Given the description of an element on the screen output the (x, y) to click on. 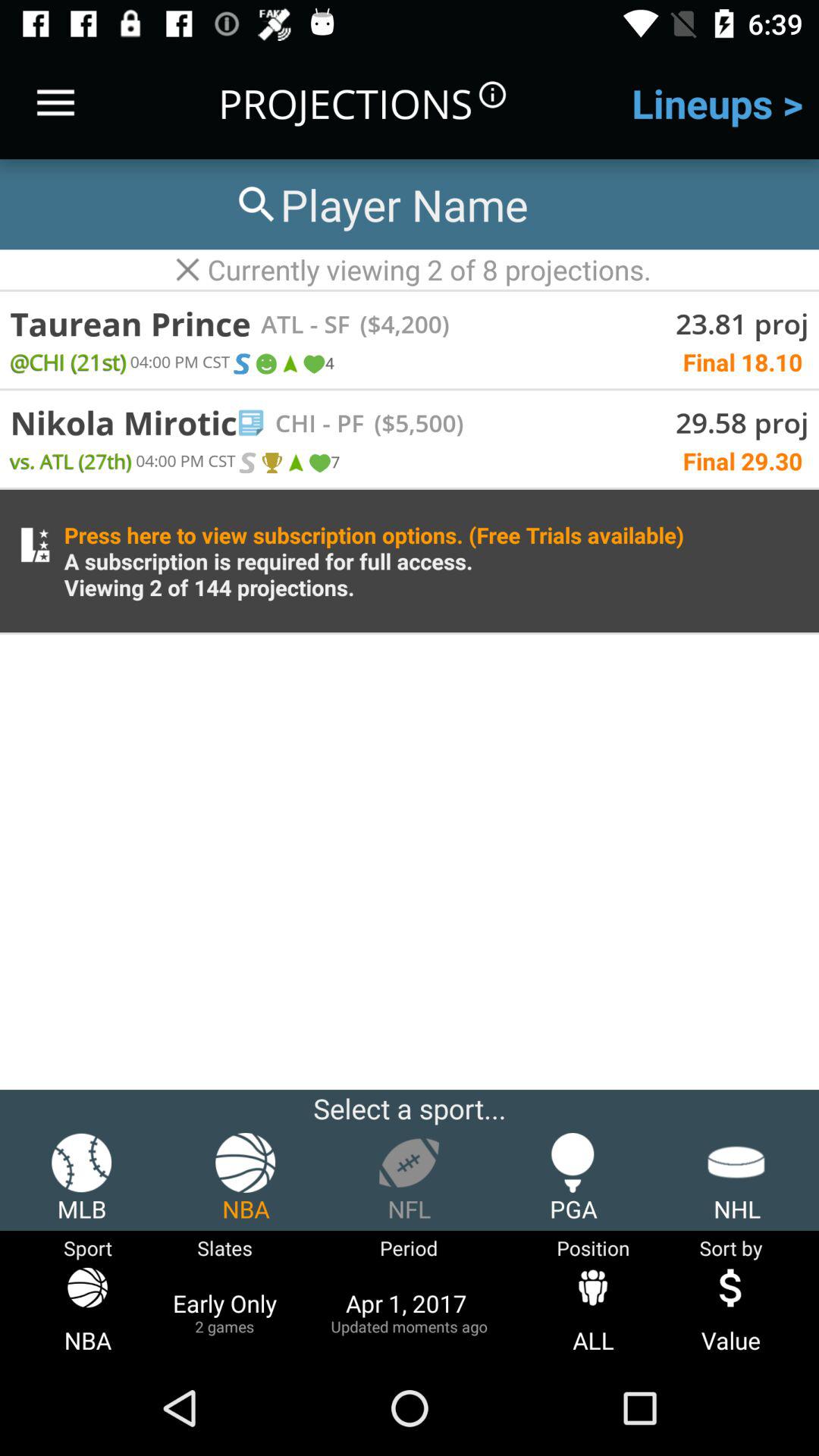
launch item below the select a sport... (573, 1178)
